Given the description of an element on the screen output the (x, y) to click on. 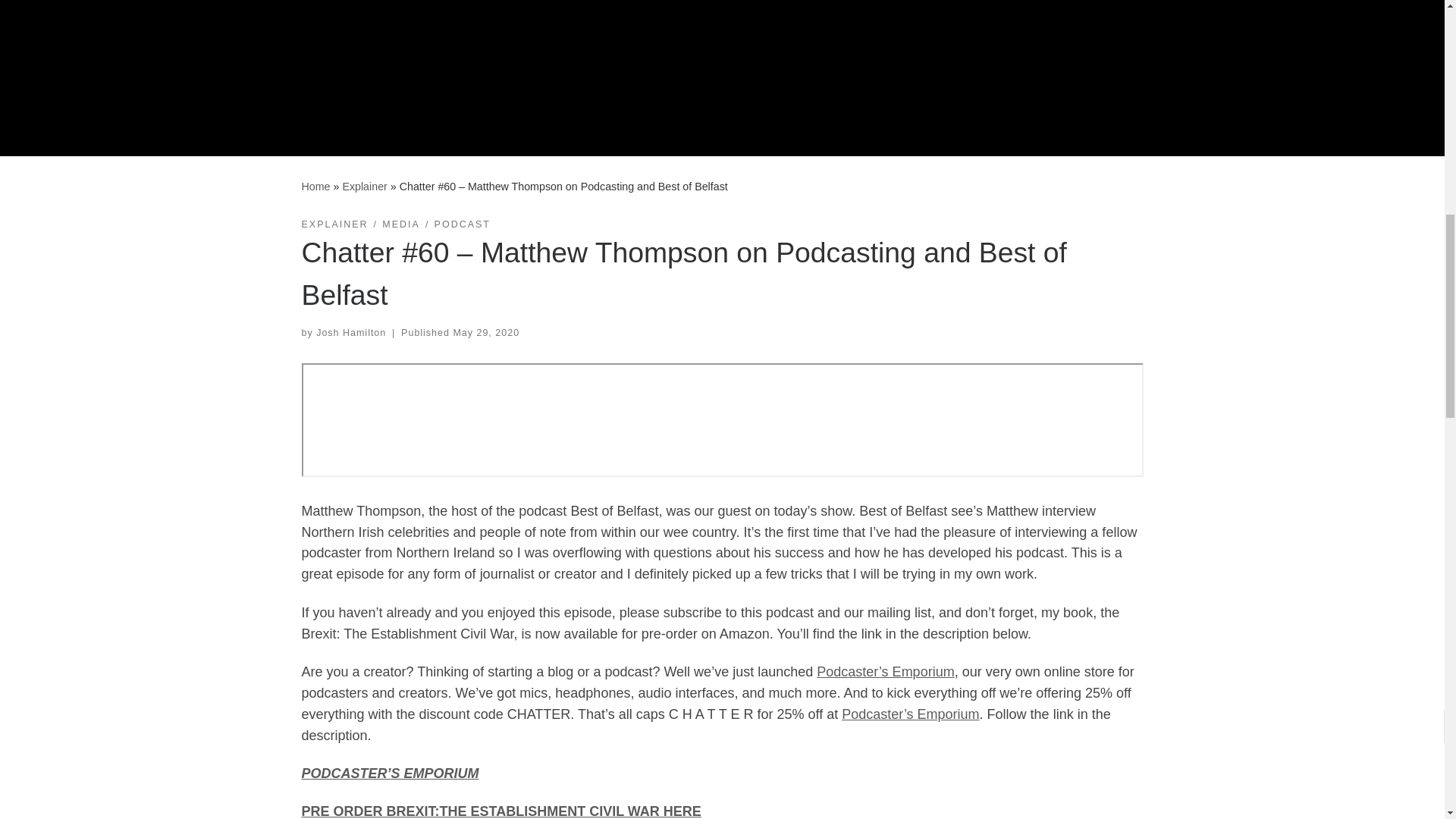
The Jist (315, 186)
View all posts in podcast (461, 224)
View all posts by Josh Hamilton (350, 332)
View all posts in Media (400, 224)
Explainer (364, 186)
View all posts in Explainer (334, 224)
11:14 am (485, 332)
